Given the description of an element on the screen output the (x, y) to click on. 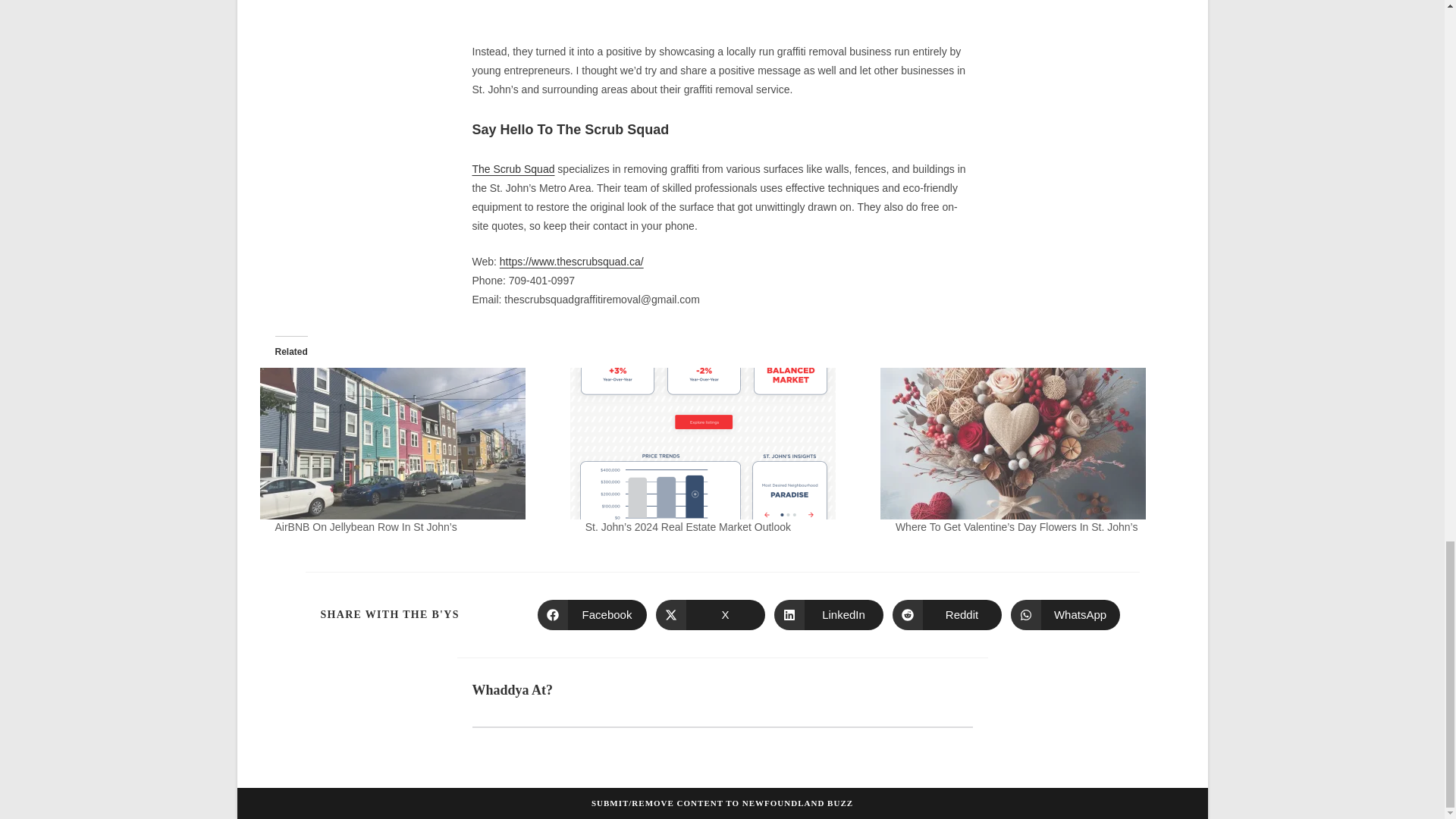
The Scrub Squad (512, 168)
